Given the description of an element on the screen output the (x, y) to click on. 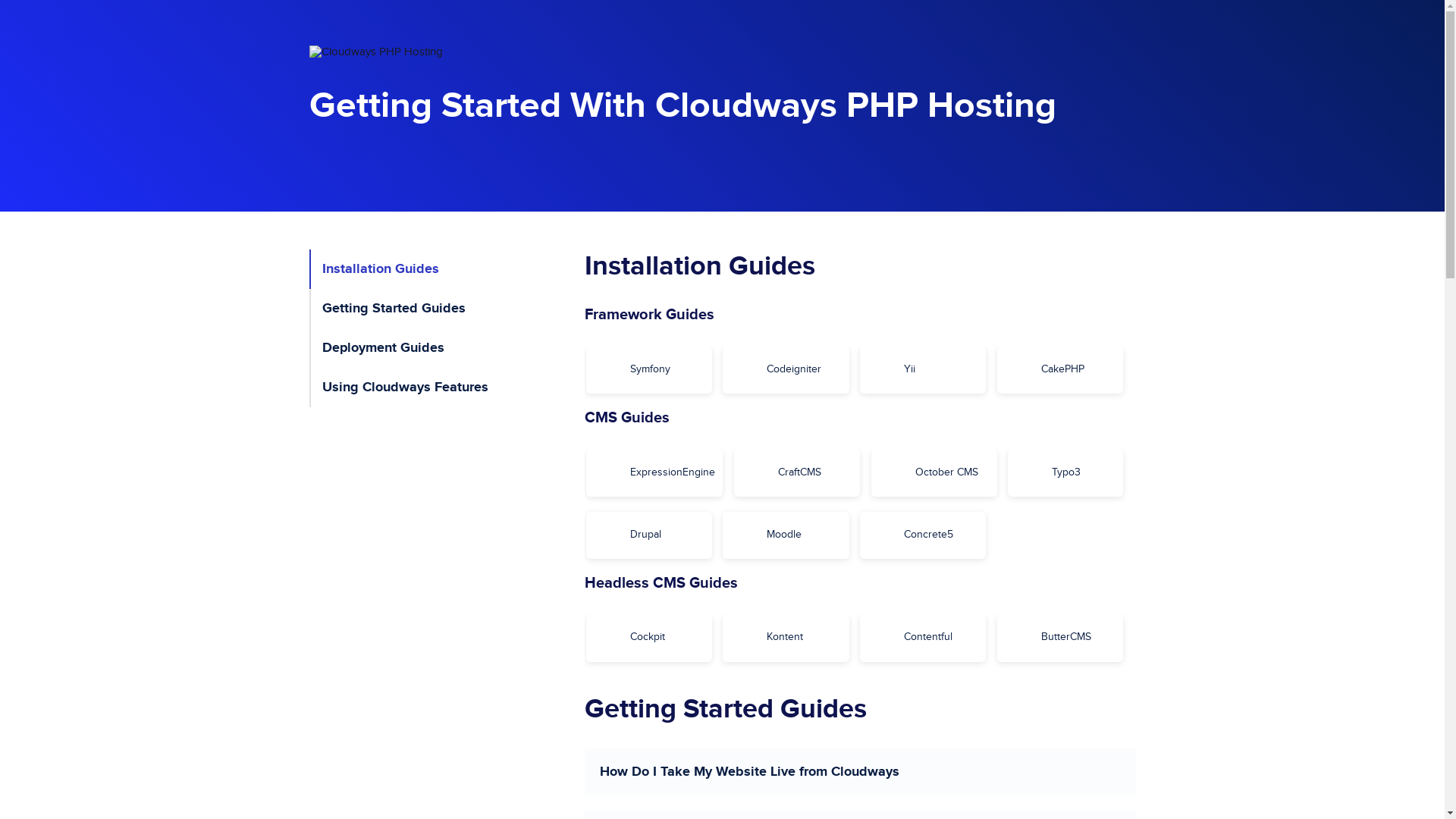
How Do I Take My Website Live from Cloudways Element type: text (859, 771)
Concrete5 Element type: text (922, 533)
Typo3 Element type: text (1065, 471)
Installation Guides Element type: text (446, 268)
Getting Started Guides Element type: text (446, 308)
Using Cloudways Features Element type: text (446, 387)
Moodle Element type: text (785, 533)
Kontent Element type: text (785, 636)
ExpressionEngine Element type: text (654, 471)
Codeigniter Element type: text (785, 368)
Drupal Element type: text (649, 533)
Yii Element type: text (922, 368)
CakePHP Element type: text (1060, 368)
ButterCMS Element type: text (1060, 636)
Symfony Element type: text (649, 368)
Cockpit Element type: text (649, 636)
CraftCMS Element type: text (796, 471)
Deployment Guides Element type: text (446, 347)
October CMS Element type: text (934, 471)
Contentful Element type: text (922, 636)
